Given the description of an element on the screen output the (x, y) to click on. 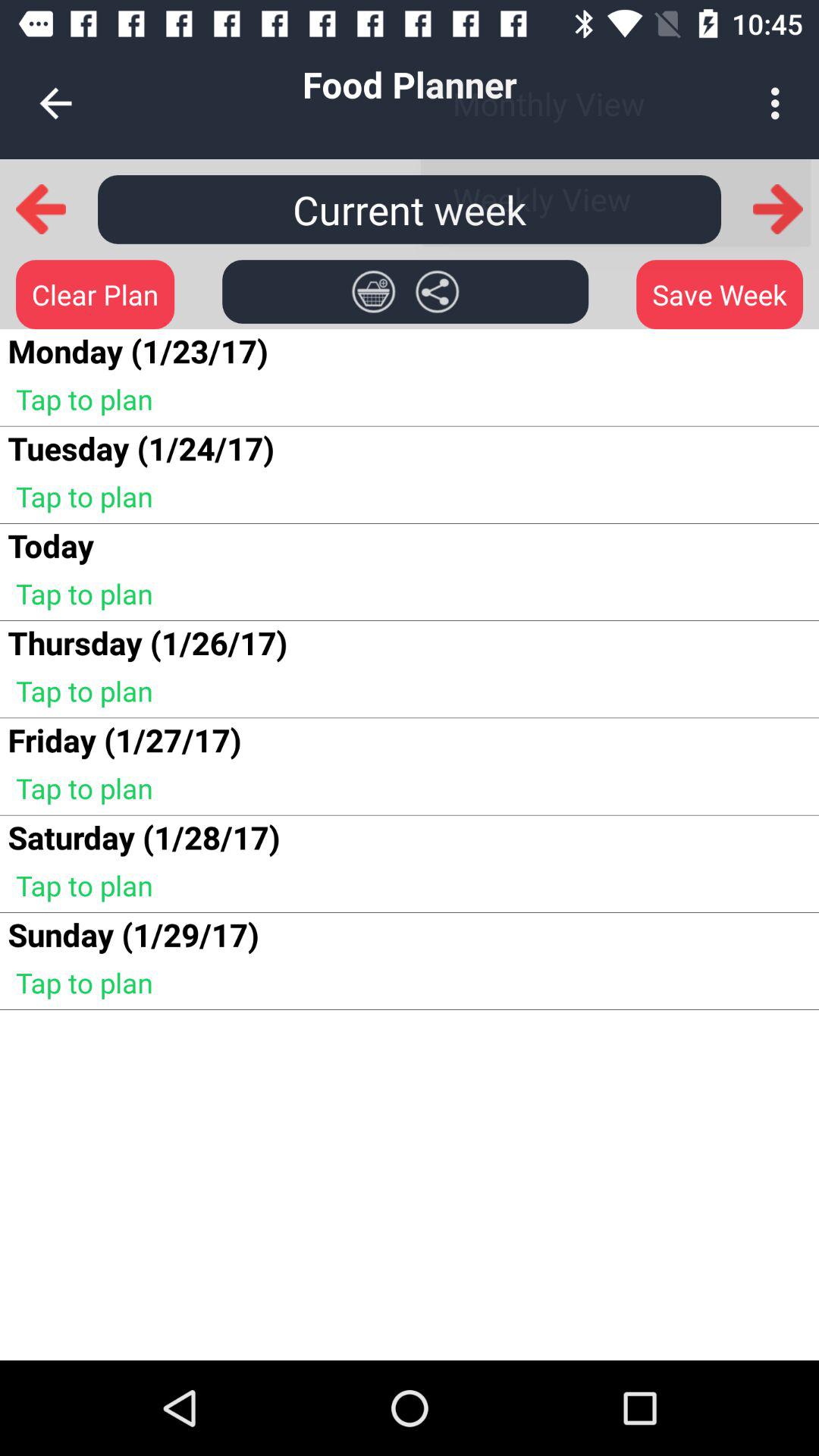
launch item above the save week (778, 209)
